Given the description of an element on the screen output the (x, y) to click on. 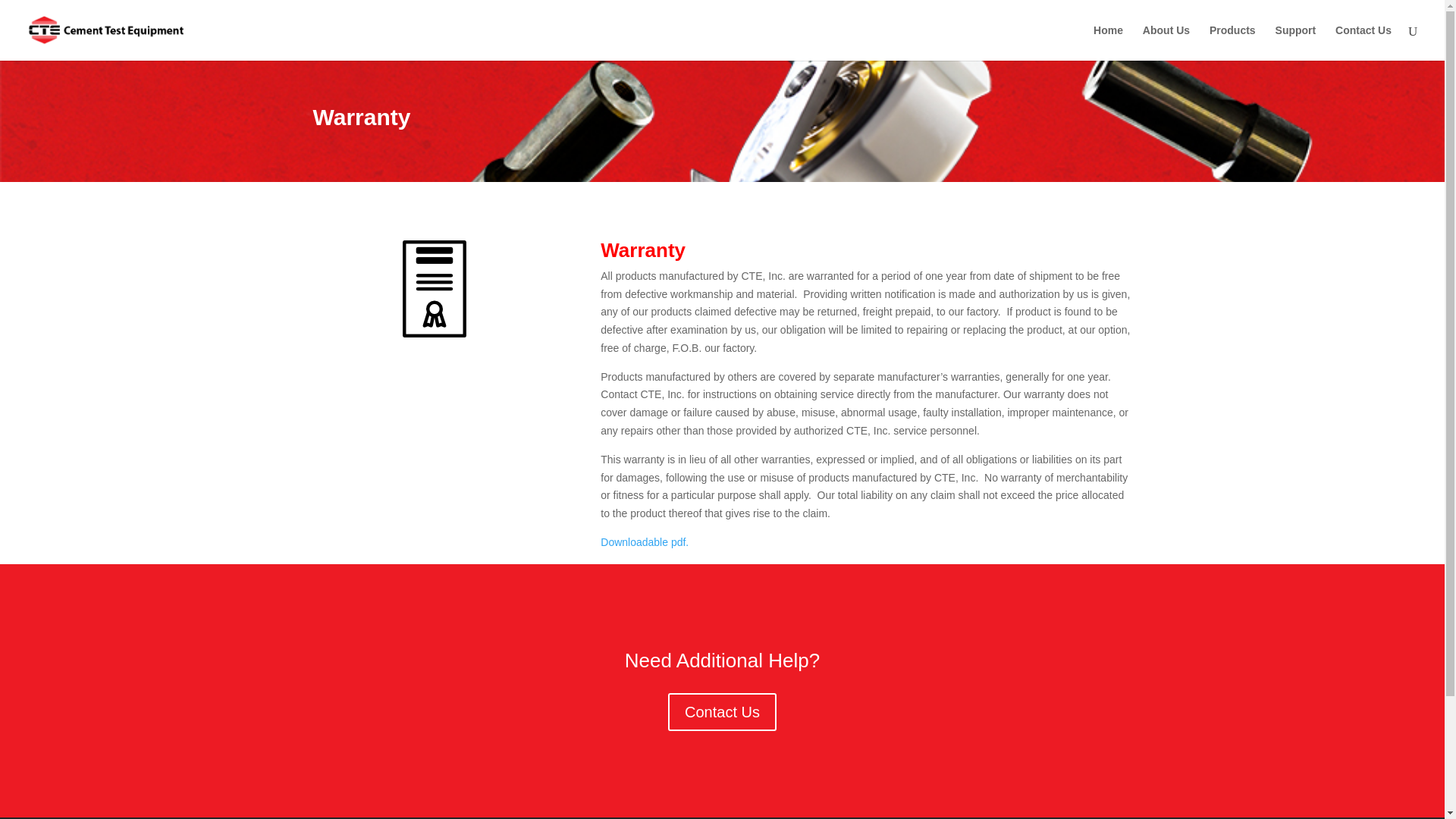
Contact Us (1363, 42)
Contact Us (722, 711)
Support (1295, 42)
Downloadable pdf. (643, 541)
About Us (1165, 42)
Products (1232, 42)
